Given the description of an element on the screen output the (x, y) to click on. 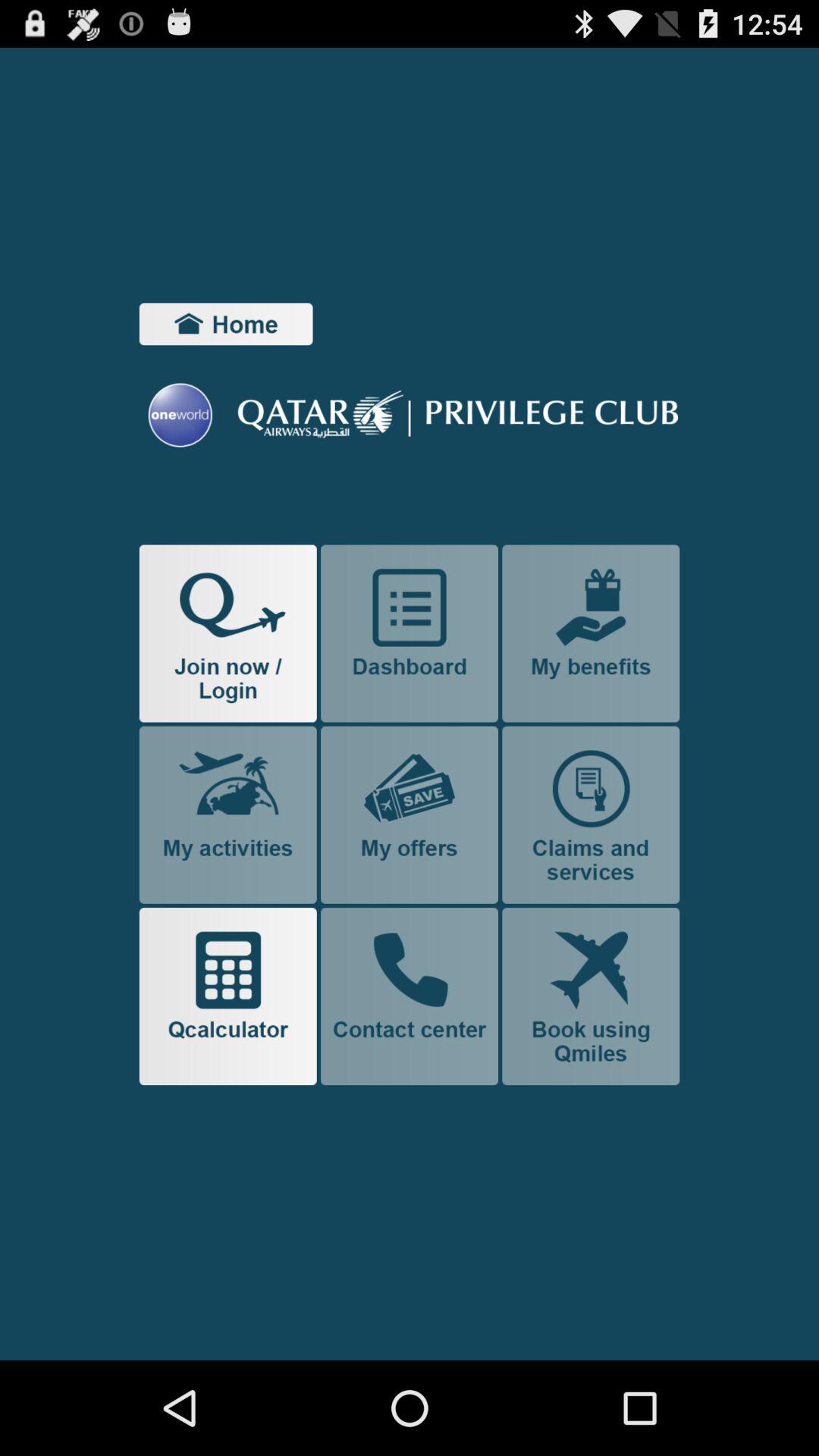
go home (225, 324)
